Given the description of an element on the screen output the (x, y) to click on. 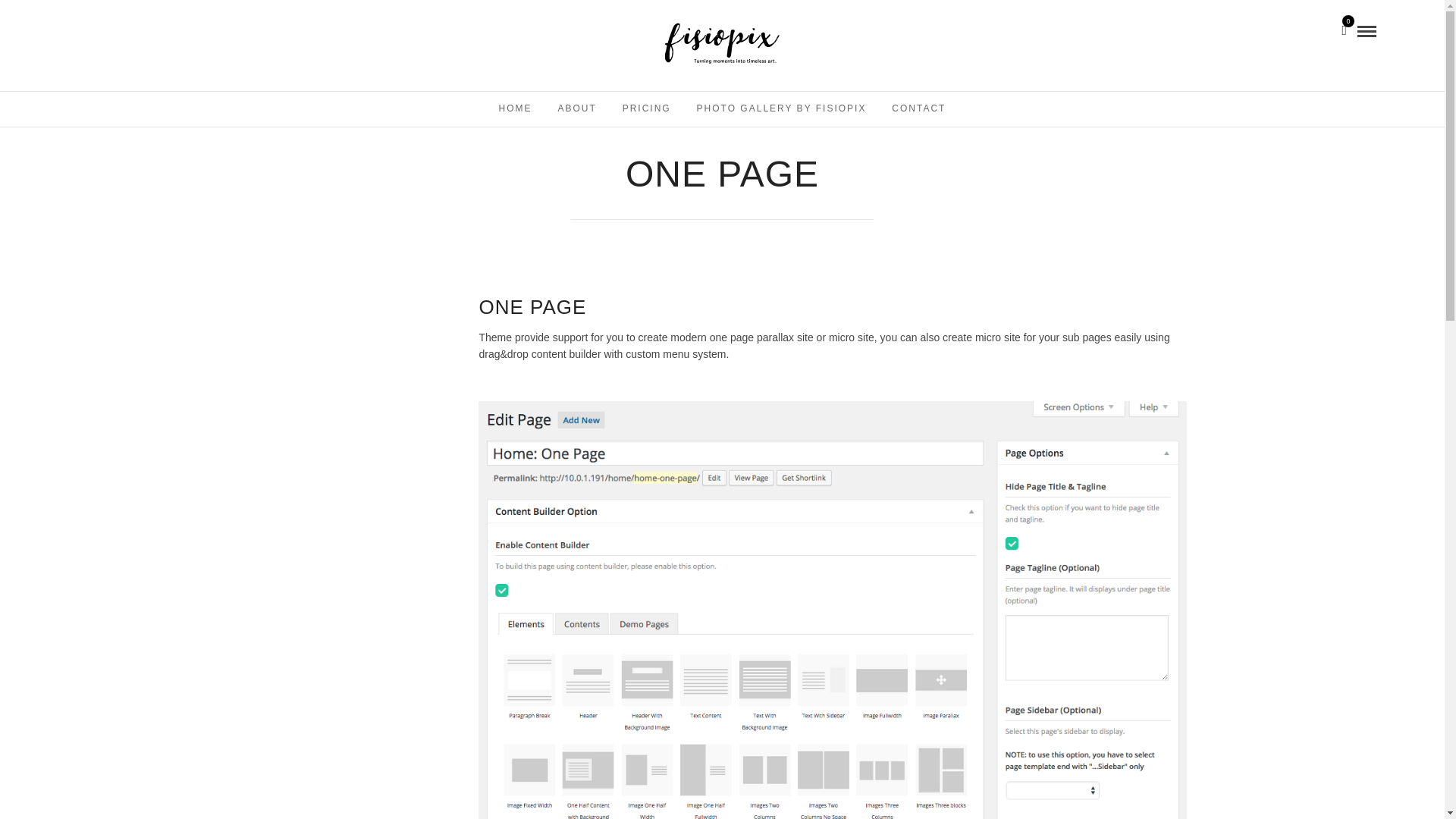
PHOTO GALLERY BY FISIOPIX (781, 108)
CONTACT (918, 108)
PRICING (646, 108)
HOME (515, 108)
ABOUT (576, 108)
